Given the description of an element on the screen output the (x, y) to click on. 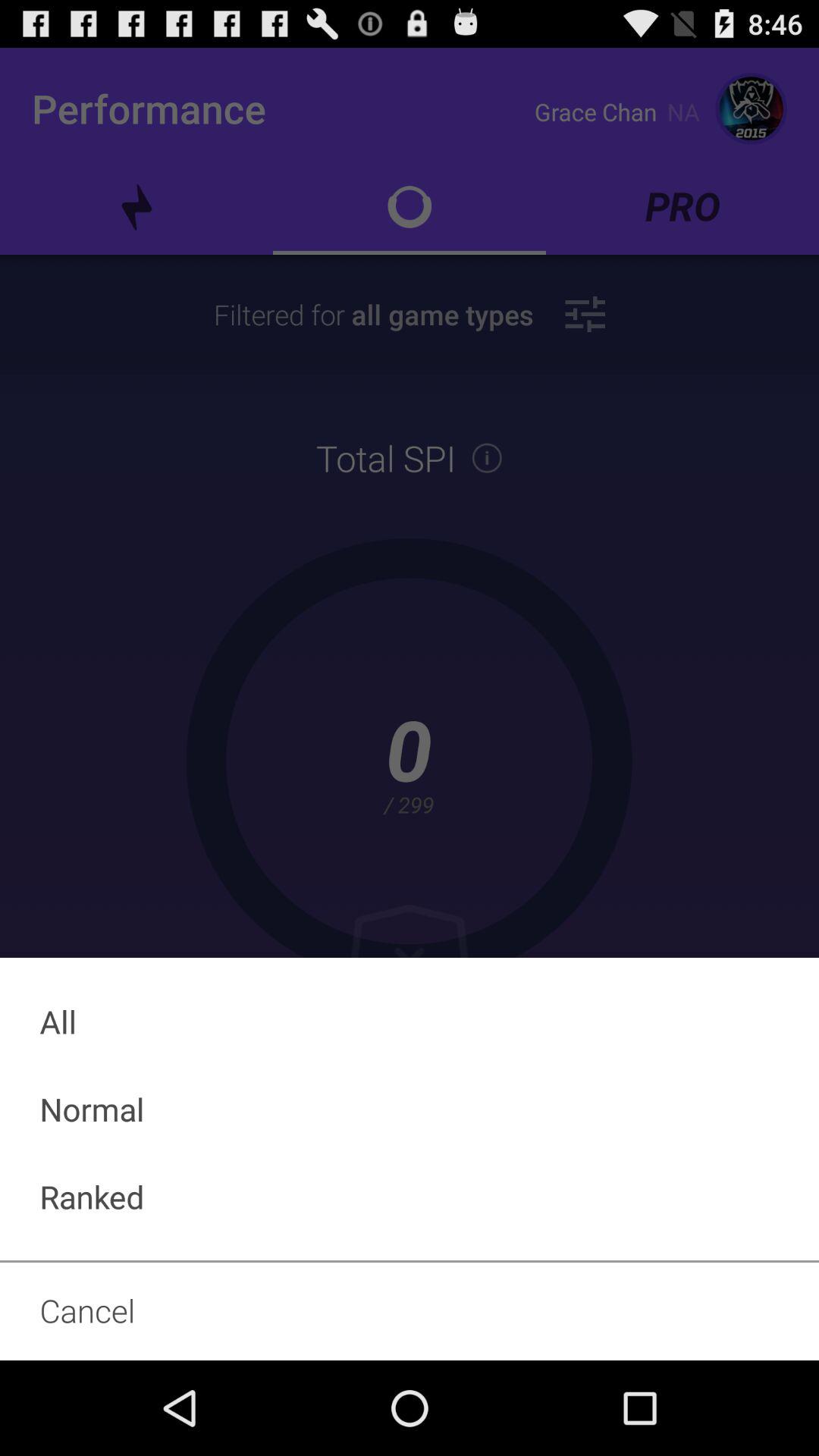
tap the all icon (409, 1021)
